Given the description of an element on the screen output the (x, y) to click on. 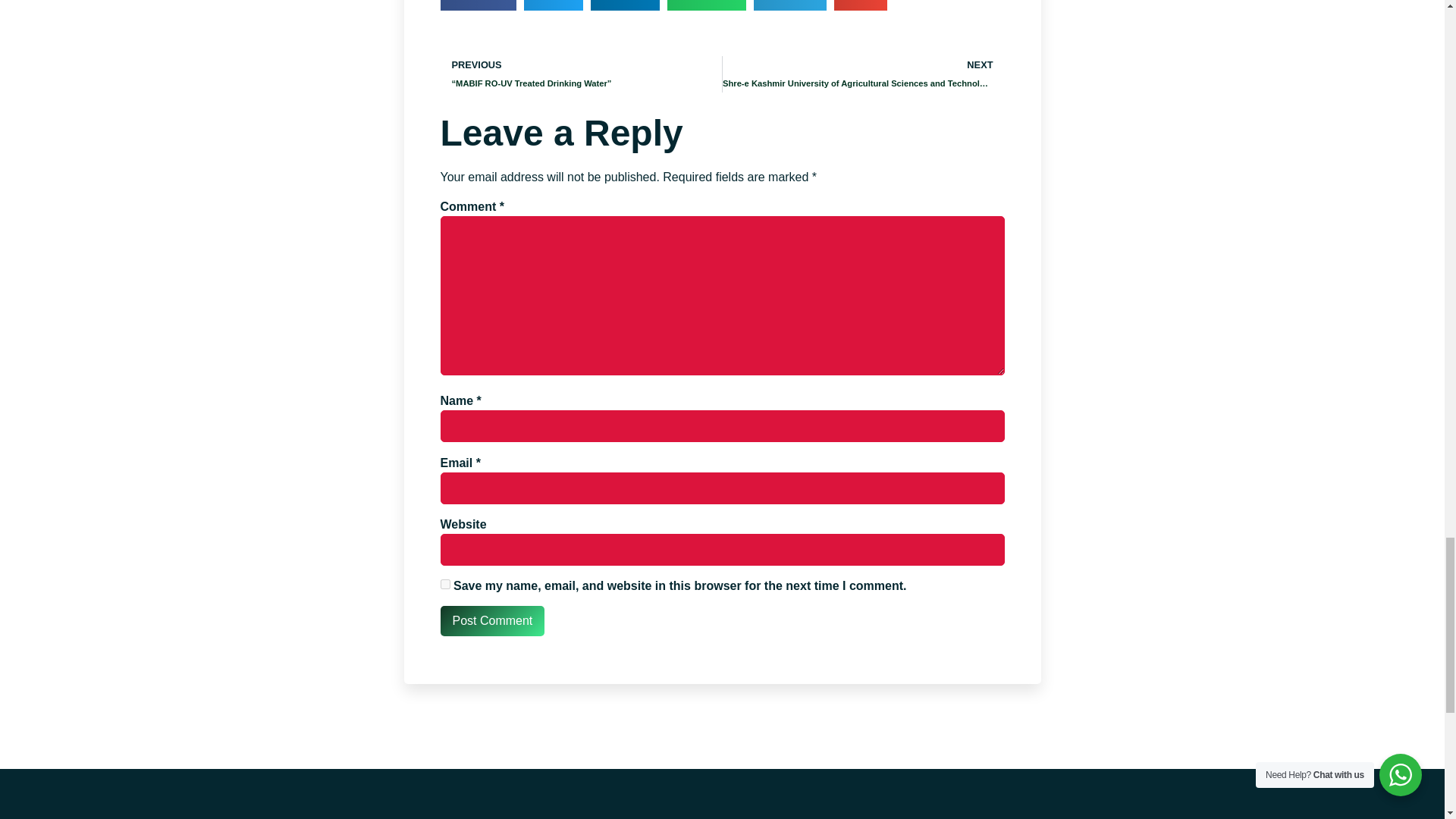
Post Comment (491, 621)
yes (444, 583)
